Given the description of an element on the screen output the (x, y) to click on. 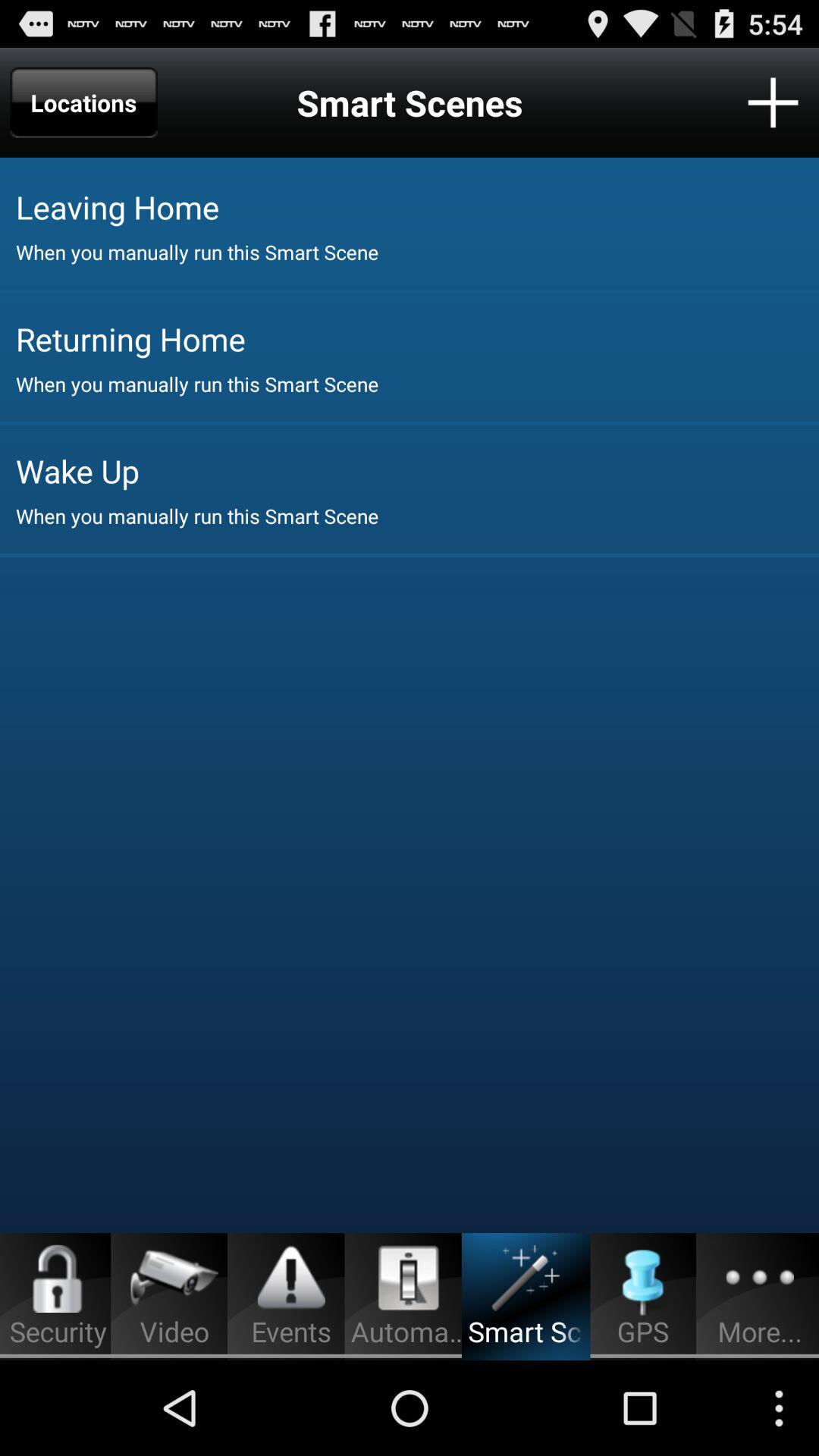
tap the leaving home app (417, 206)
